Given the description of an element on the screen output the (x, y) to click on. 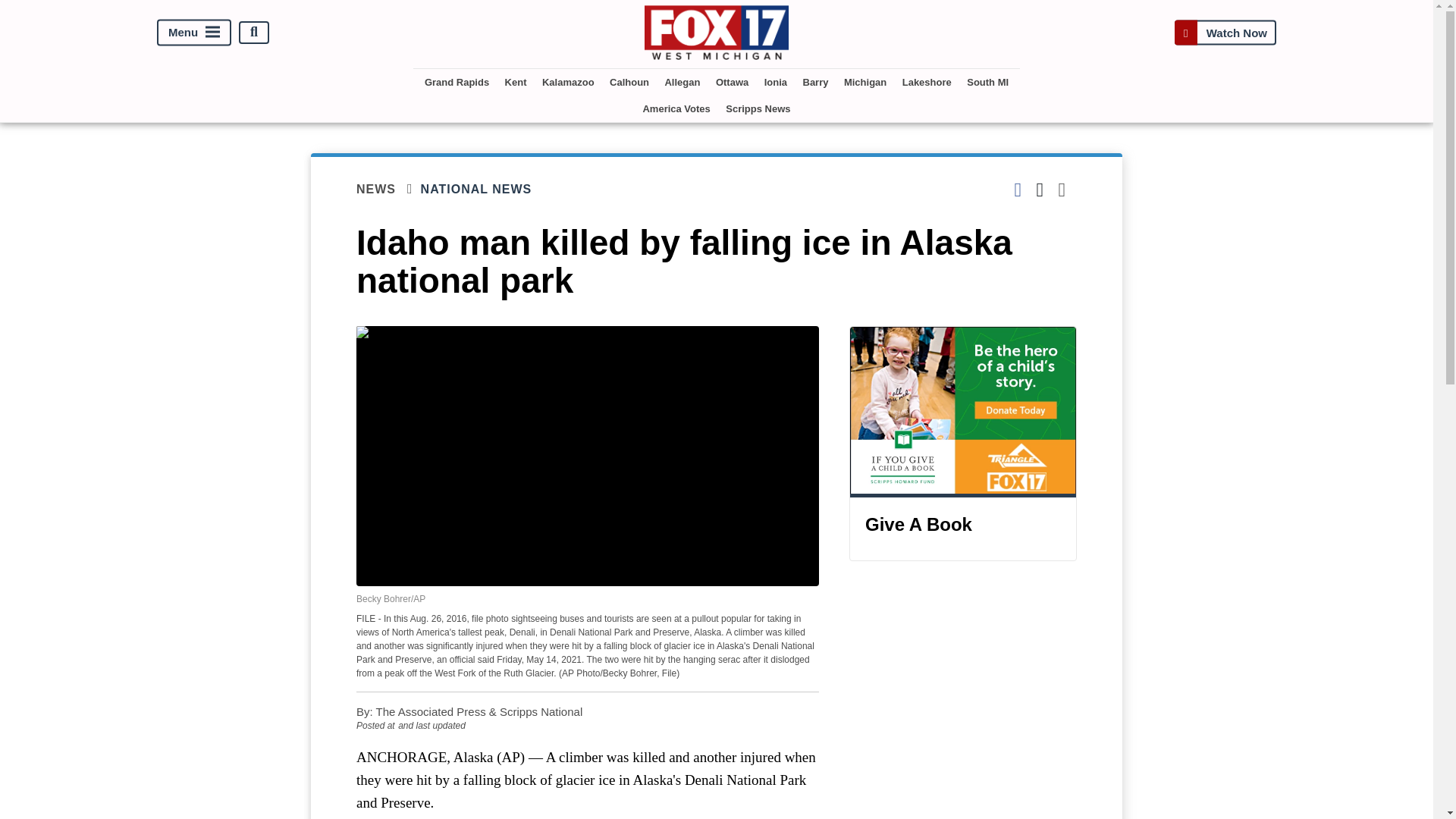
Watch Now (1224, 31)
Menu (194, 31)
